Given the description of an element on the screen output the (x, y) to click on. 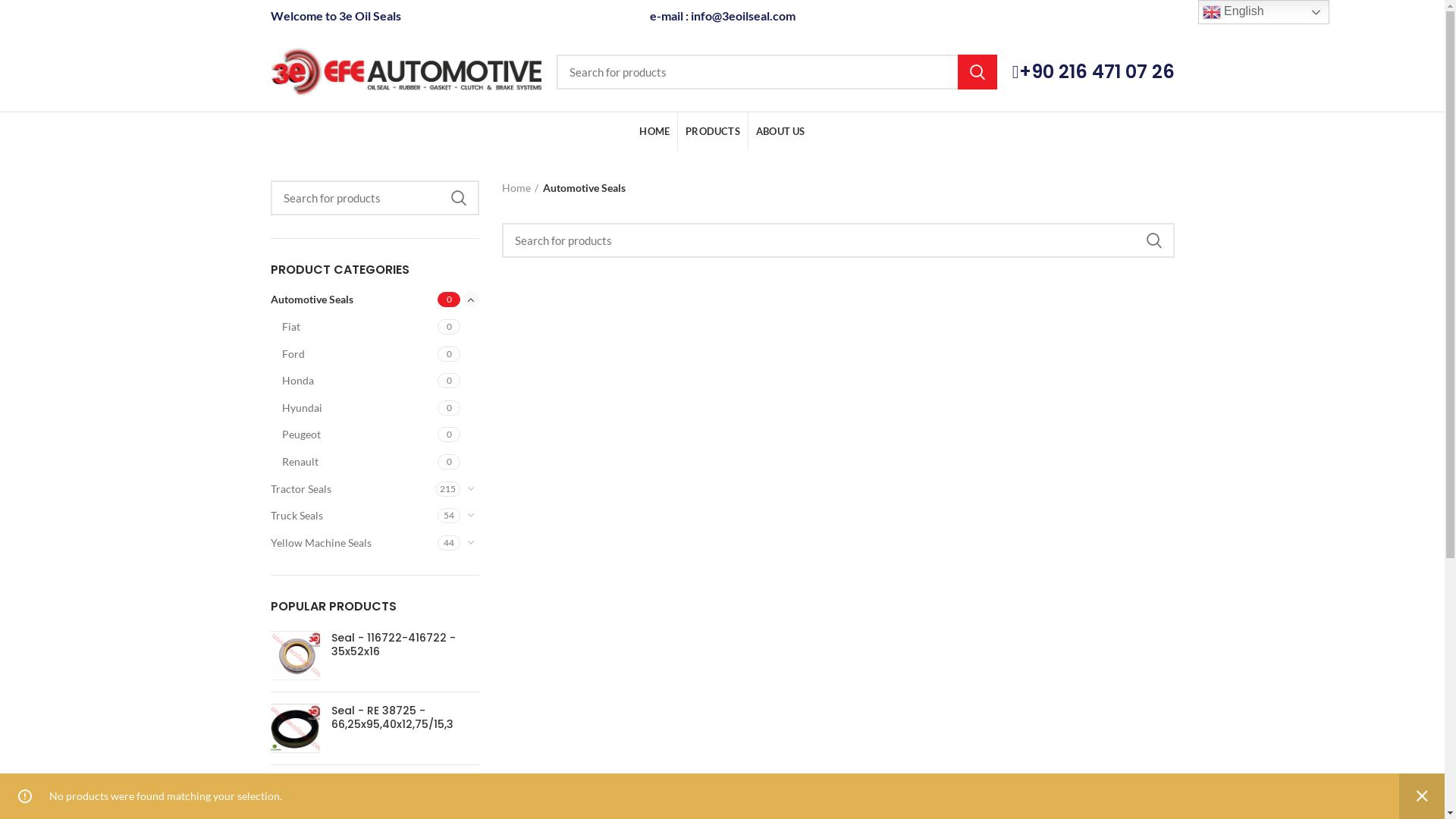
Peugeot Element type: text (360, 434)
Hyundai Element type: text (360, 407)
SEARCH Element type: text (977, 71)
Tractor Seals Element type: text (352, 488)
SEARCH Element type: text (458, 197)
Honda Element type: text (360, 380)
Yellow Machine Seals Element type: text (353, 542)
Truck Seals Element type: text (353, 515)
HOME Element type: text (654, 131)
Fiat Element type: text (360, 326)
Home Element type: text (520, 187)
Seal - 116722-416722 - 35x52x16 Element type: text (404, 644)
SEARCH Element type: text (1153, 239)
Seal - RE 38725 - 66,25x95,40x12,75/15,3 Element type: hover (294, 728)
Seal - 116722-416722
- 35x52x16 Element type: hover (294, 655)
Ford Element type: text (360, 353)
ABOUT US Element type: text (780, 131)
Automotive Seals Element type: text (353, 299)
Renault Element type: text (360, 461)
Seal - RE 38725 - 66,25x95,40x12,75/15,3 Element type: text (404, 717)
PRODUCTS Element type: text (712, 131)
Seal - AR 49025 - 61,5x89,1x9,5 Element type: text (404, 789)
English Element type: text (1263, 12)
